Given the description of an element on the screen output the (x, y) to click on. 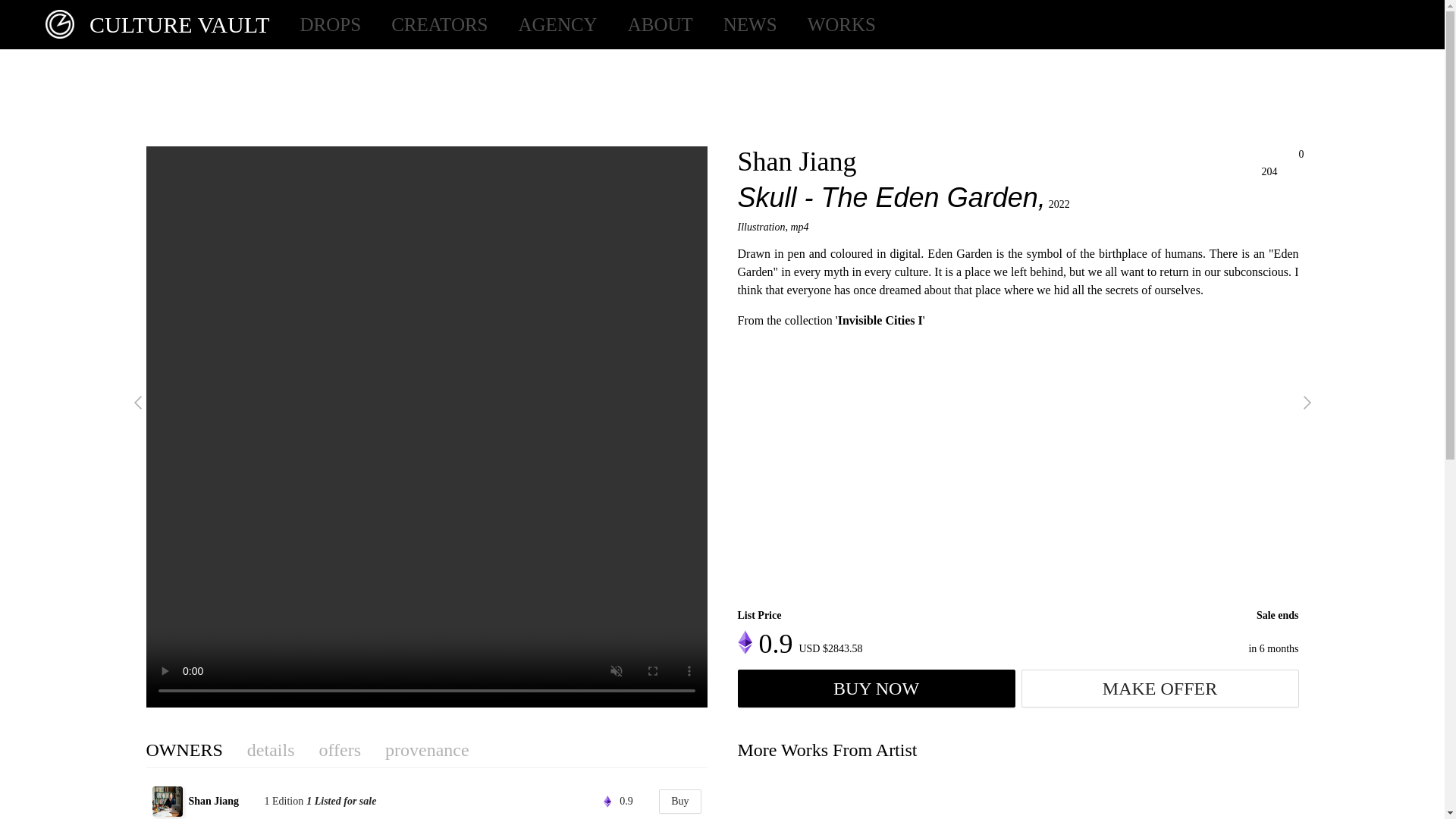
ABOUT (660, 24)
MAKE OFFER (1159, 688)
Shan Jiang (796, 161)
CREATORS (439, 24)
BUY NOW (875, 688)
CULTURE VAULT (149, 24)
AGENCY (557, 24)
Invisible Cities I (880, 319)
Shan Jiang (223, 801)
DROPS (330, 24)
Buy (679, 801)
NEWS (750, 24)
